Given the description of an element on the screen output the (x, y) to click on. 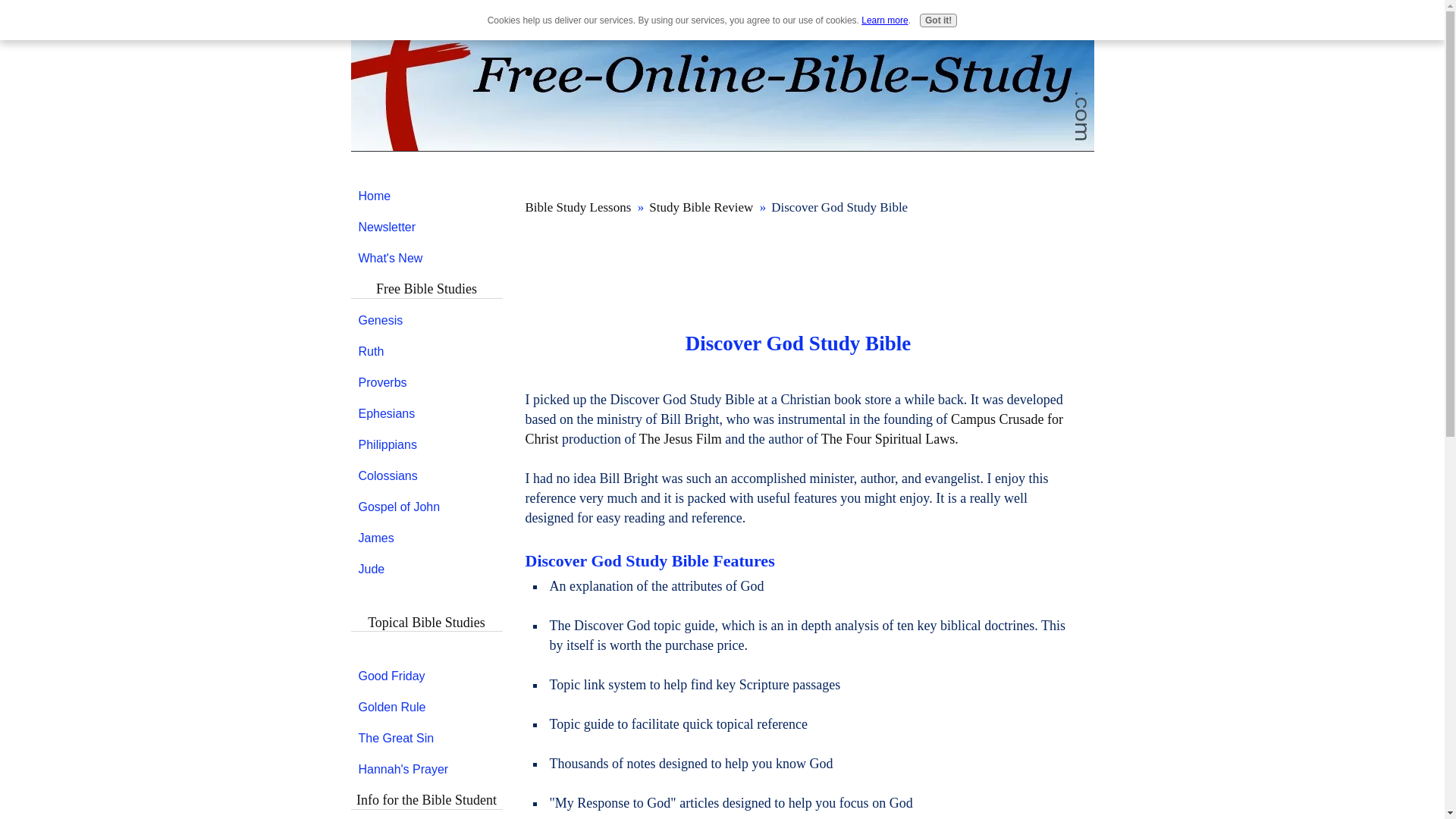
Philippians (426, 444)
Ephesians (426, 412)
Hannah's Prayer (426, 769)
Good Friday (426, 676)
Genesis (426, 320)
The Jesus Film (680, 438)
Newsletter (426, 226)
Colossians (426, 475)
The Four Spiritual Laws. (889, 438)
Golden Rule (426, 706)
James (426, 537)
Study Bible Review (700, 206)
Bible Study Lessons (577, 206)
Jude (426, 569)
